Given the description of an element on the screen output the (x, y) to click on. 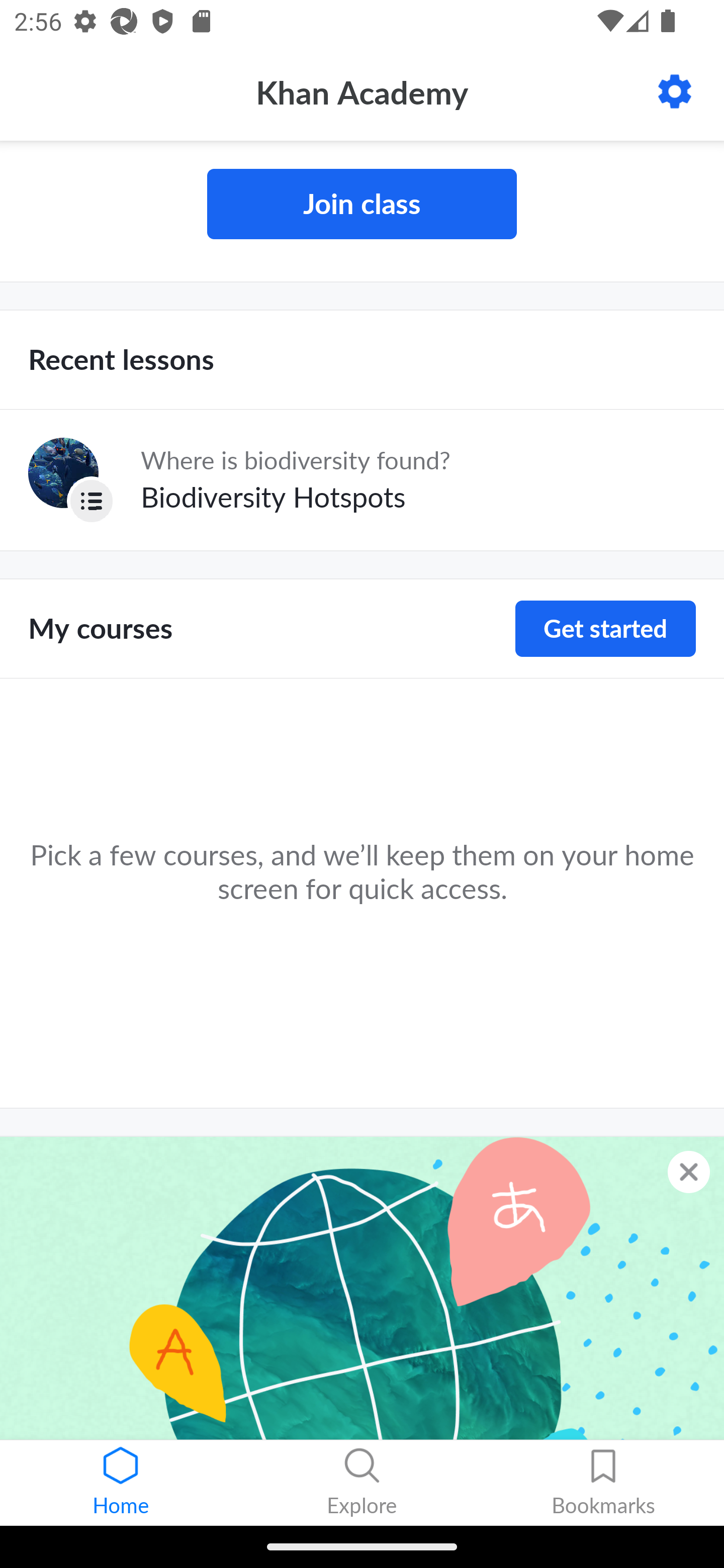
Settings (674, 91)
Join class (361, 204)
Get started (605, 628)
Dismiss (688, 1171)
Home (120, 1482)
Explore (361, 1482)
Bookmarks (603, 1482)
